Given the description of an element on the screen output the (x, y) to click on. 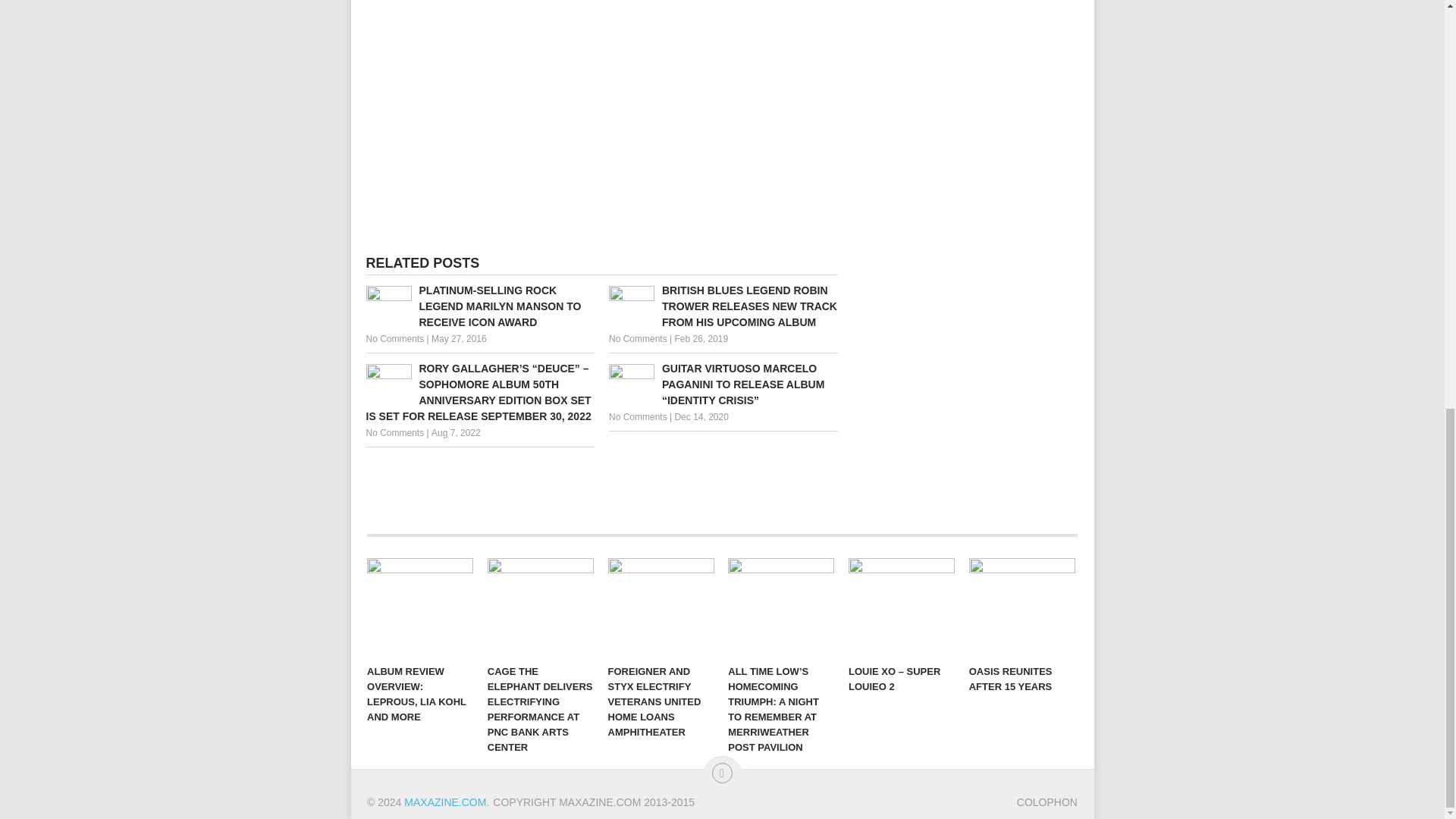
No Comments (394, 338)
No Comments (637, 416)
No Comments (637, 338)
No Comments (394, 432)
